Given the description of an element on the screen output the (x, y) to click on. 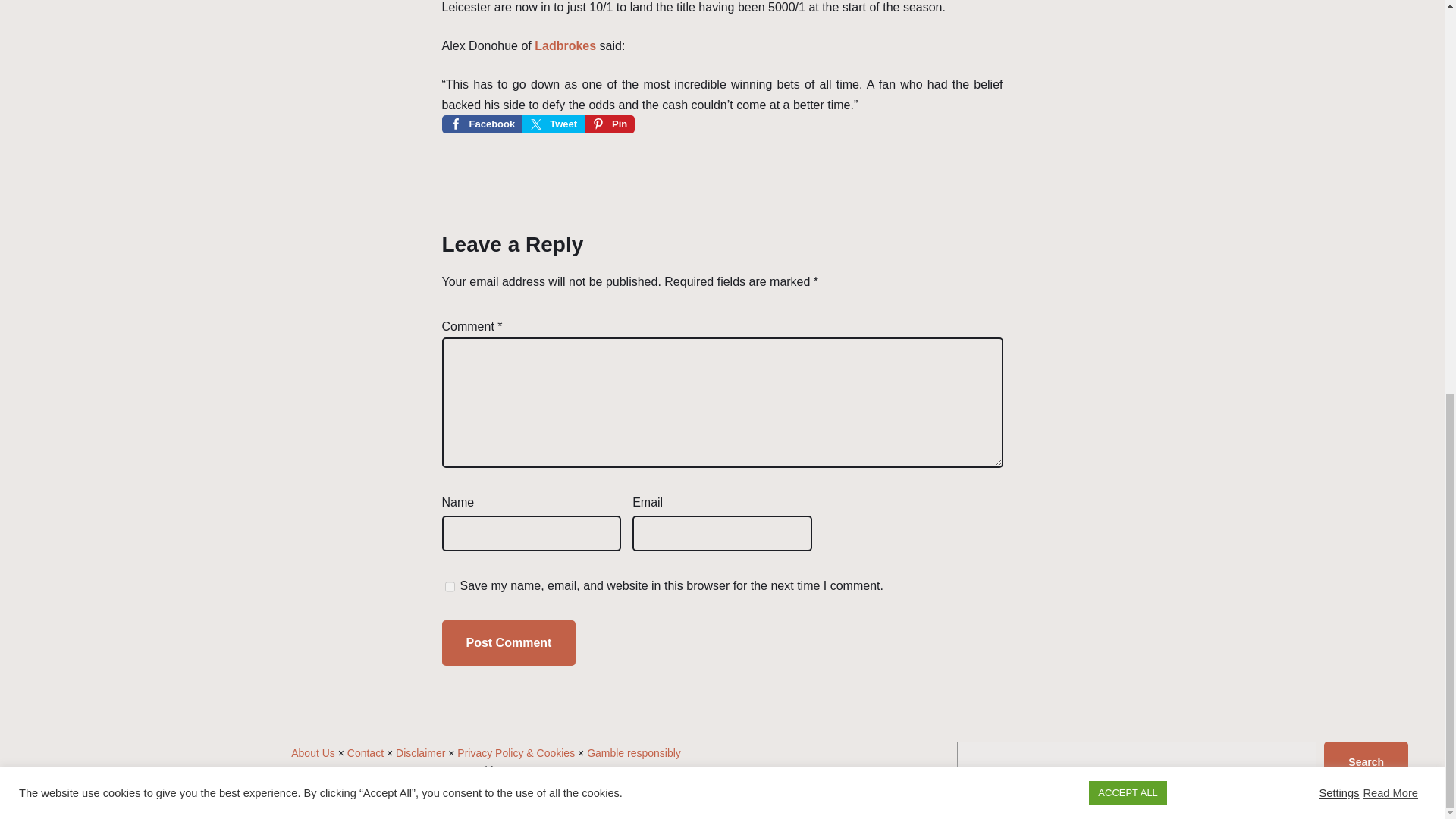
Facebook (481, 124)
Pin (609, 124)
Share on Pinterest (609, 124)
Ladbrokes (564, 45)
Tweet (553, 124)
Post Comment (508, 642)
Share on Facebook (481, 124)
Share on Twitter (553, 124)
